Given the description of an element on the screen output the (x, y) to click on. 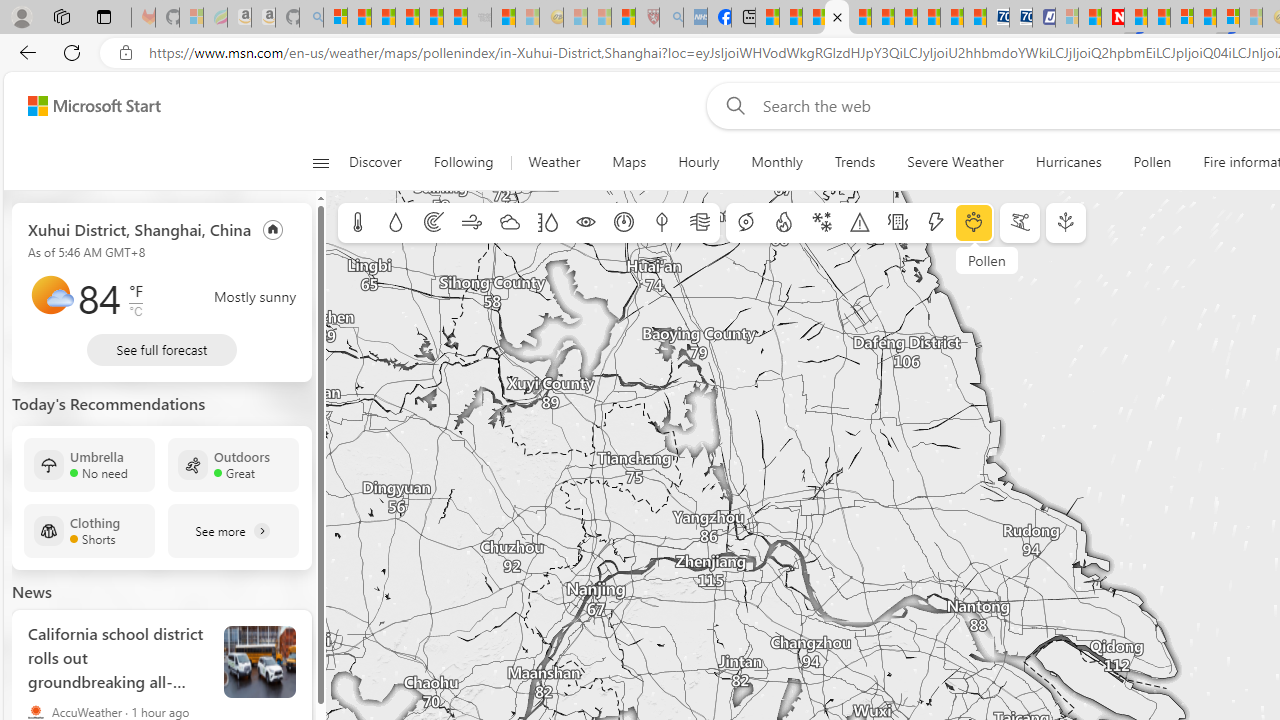
Hurricane (746, 223)
AccuWeather (35, 712)
